Given the description of an element on the screen output the (x, y) to click on. 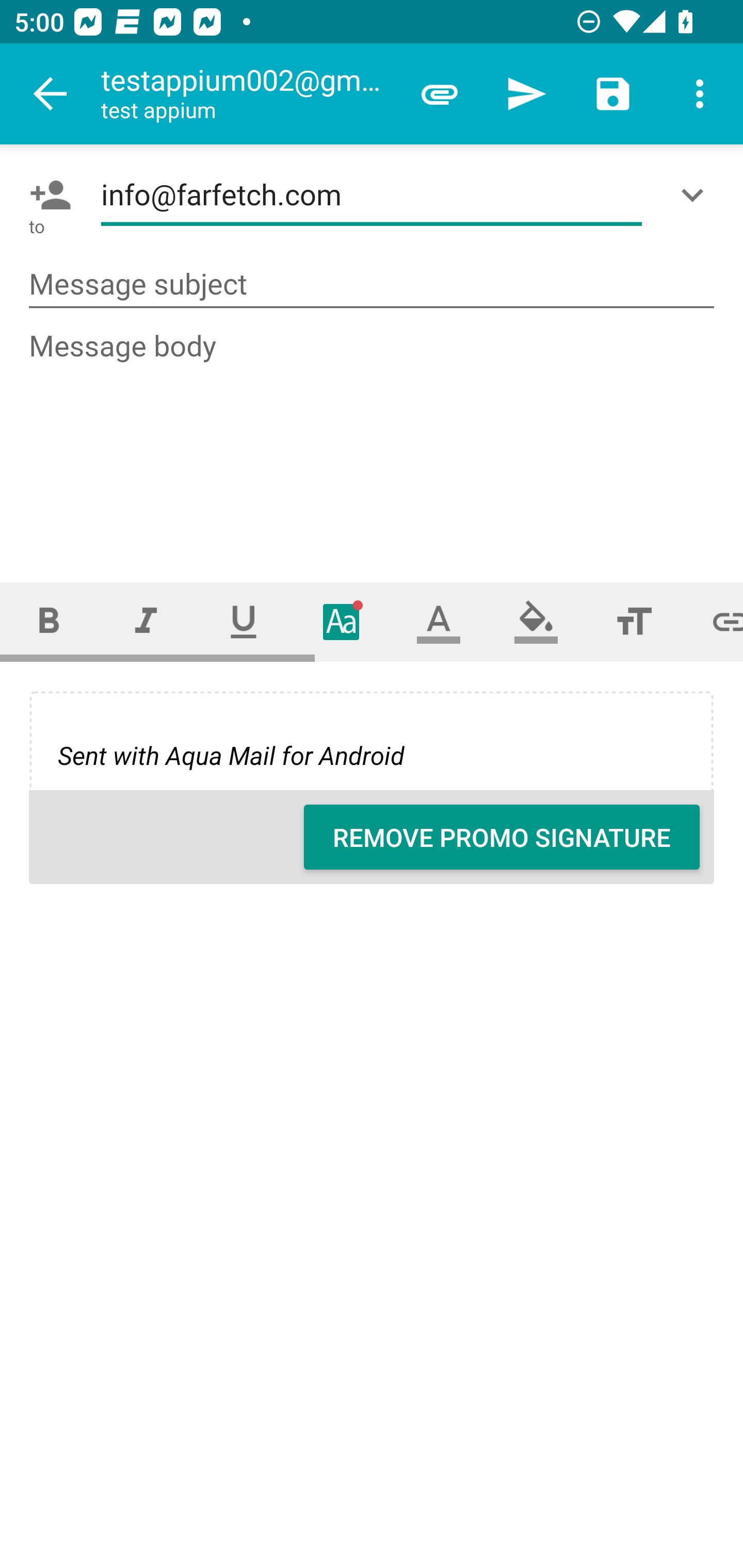
Navigate up (50, 93)
testappium002@gmail.com test appium (248, 93)
Attach (439, 93)
Send (525, 93)
Save (612, 93)
More options (699, 93)
Pick contact: To (46, 195)
Show/Add CC/BCC (696, 195)
info@farfetch.com (371, 195)
Message subject (371, 284)
Message body (372, 438)
Bold (48, 621)
Italic (145, 621)
Underline (243, 621)
Typeface (font) (341, 621)
Text color (438, 621)
Fill color (536, 621)
Font size (633, 621)
Set link (712, 621)
REMOVE PROMO SIGNATURE (501, 837)
